Given the description of an element on the screen output the (x, y) to click on. 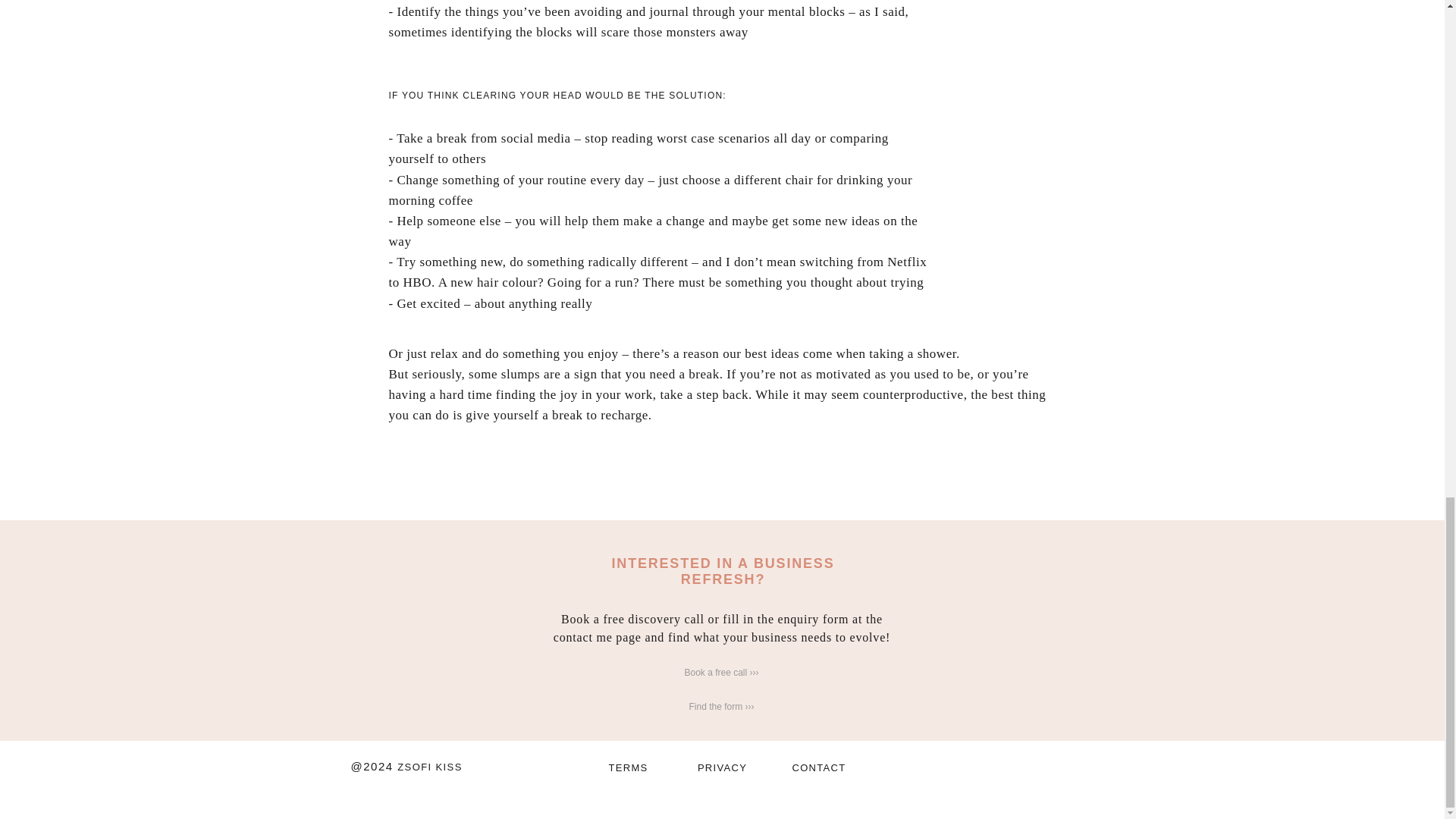
CONTACT (818, 767)
PRIVACY (721, 767)
TERMS (627, 767)
